Given the description of an element on the screen output the (x, y) to click on. 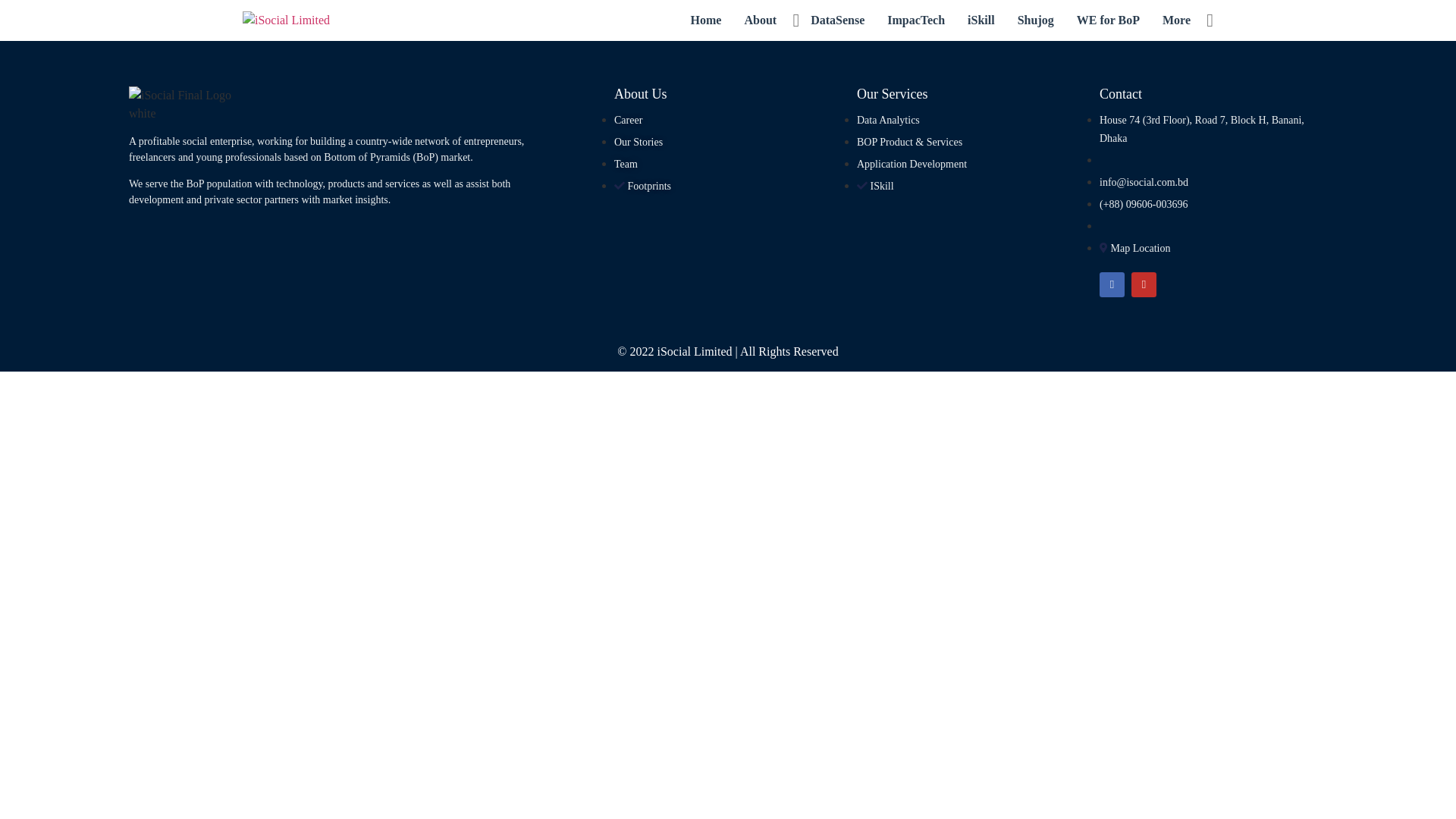
Home Element type: text (706, 20)
info@isocial.com.bd Element type: text (1143, 182)
Our Stories Element type: text (638, 141)
Data Analytics Element type: text (887, 119)
(+88) 09606-003696 Element type: text (1143, 204)
Application Development Element type: text (911, 163)
BOP Product & Services Element type: text (909, 141)
WE for BoP Element type: text (1108, 20)
Footprints Element type: text (642, 185)
ImpacTech Element type: text (915, 20)
Career Element type: text (628, 119)
Team Element type: text (625, 163)
Shujog Element type: text (1035, 20)
Map Location Element type: text (1134, 248)
DataSense Element type: text (837, 20)
About Element type: text (759, 20)
iSkill Element type: text (981, 20)
More Element type: text (1176, 20)
ISkill Element type: text (875, 185)
